Given the description of an element on the screen output the (x, y) to click on. 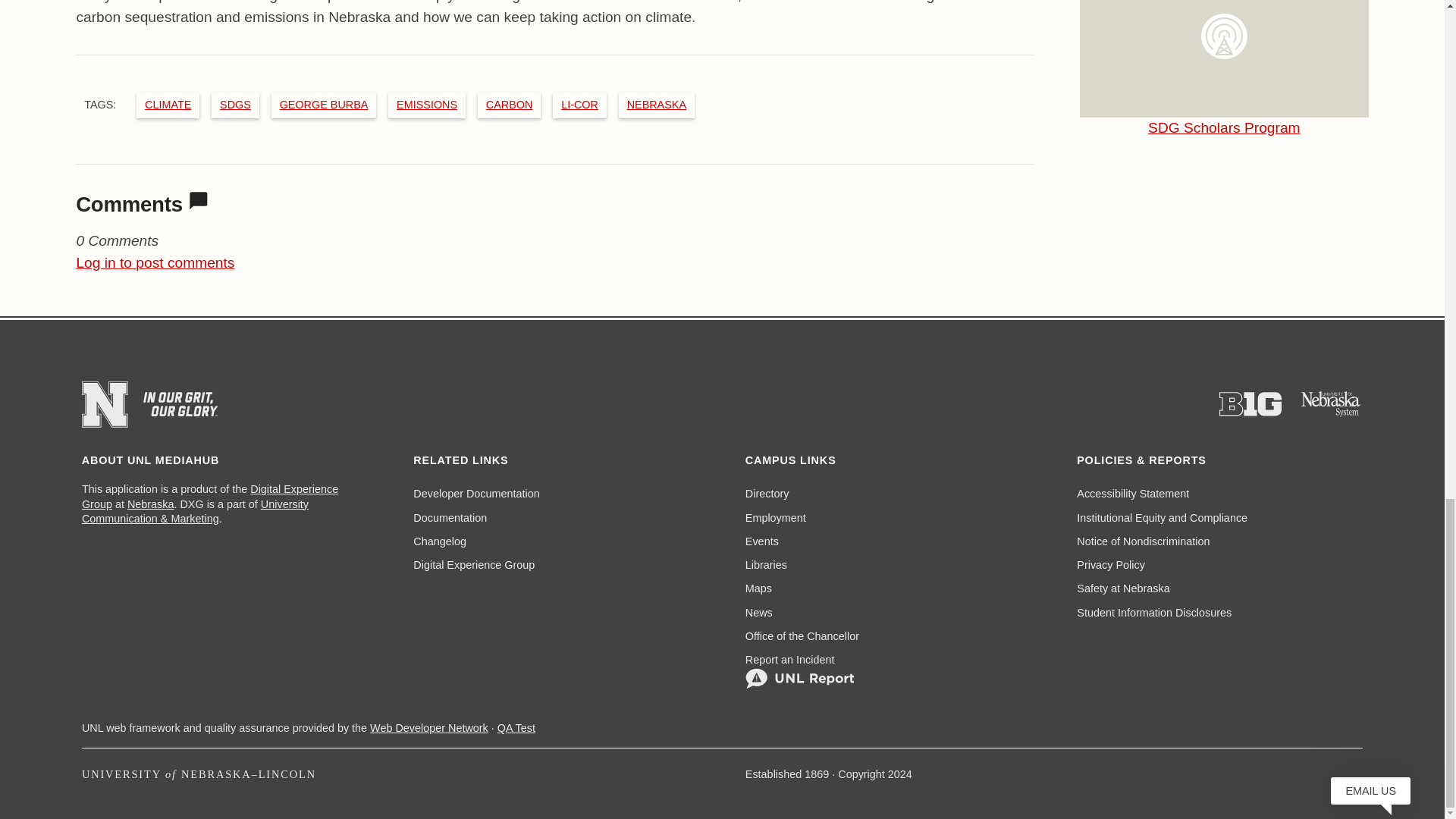
GEORGE BURBA (323, 104)
Log in to post comments (154, 262)
EMISSIONS (426, 104)
CARBON (509, 104)
SDGS (234, 104)
NEBRASKA (656, 104)
icon comment (209, 496)
CLIMATE (198, 200)
Nebraska (167, 104)
SDG Scholars Program (151, 503)
LI-COR (1224, 127)
